Given the description of an element on the screen output the (x, y) to click on. 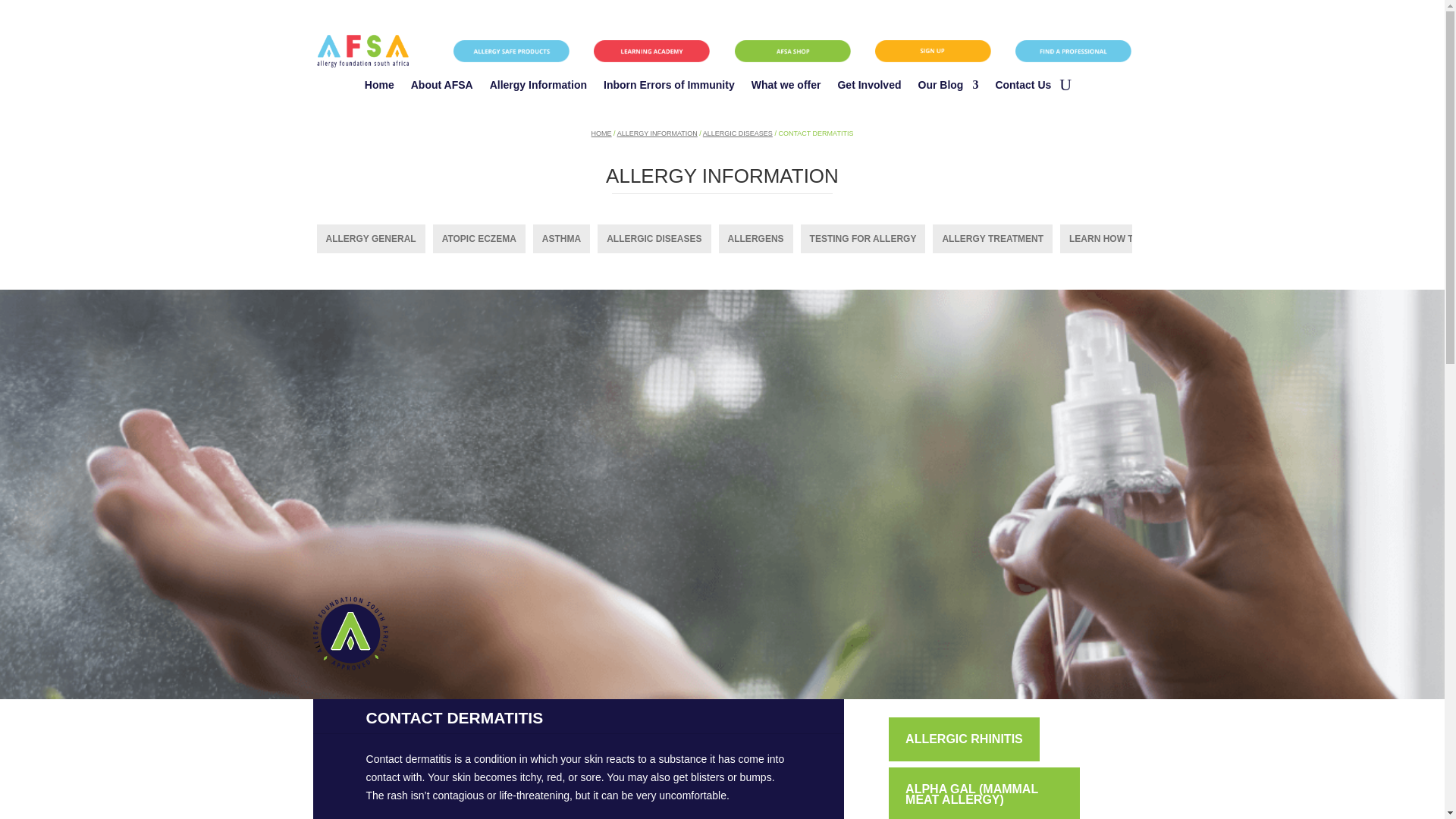
About AFSA (441, 87)
Allergy Information (537, 87)
AFSA Logo (350, 633)
Our Blog (947, 87)
SAFE PRODUCT (510, 51)
Inborn Errors of Immunity (669, 87)
PROFESSIONAL (1072, 51)
ACADEMY (652, 51)
AFSA Logo (363, 50)
Get Involved (869, 87)
SHOP (792, 51)
SIGN (933, 51)
Home (379, 87)
What we offer (786, 87)
